Given the description of an element on the screen output the (x, y) to click on. 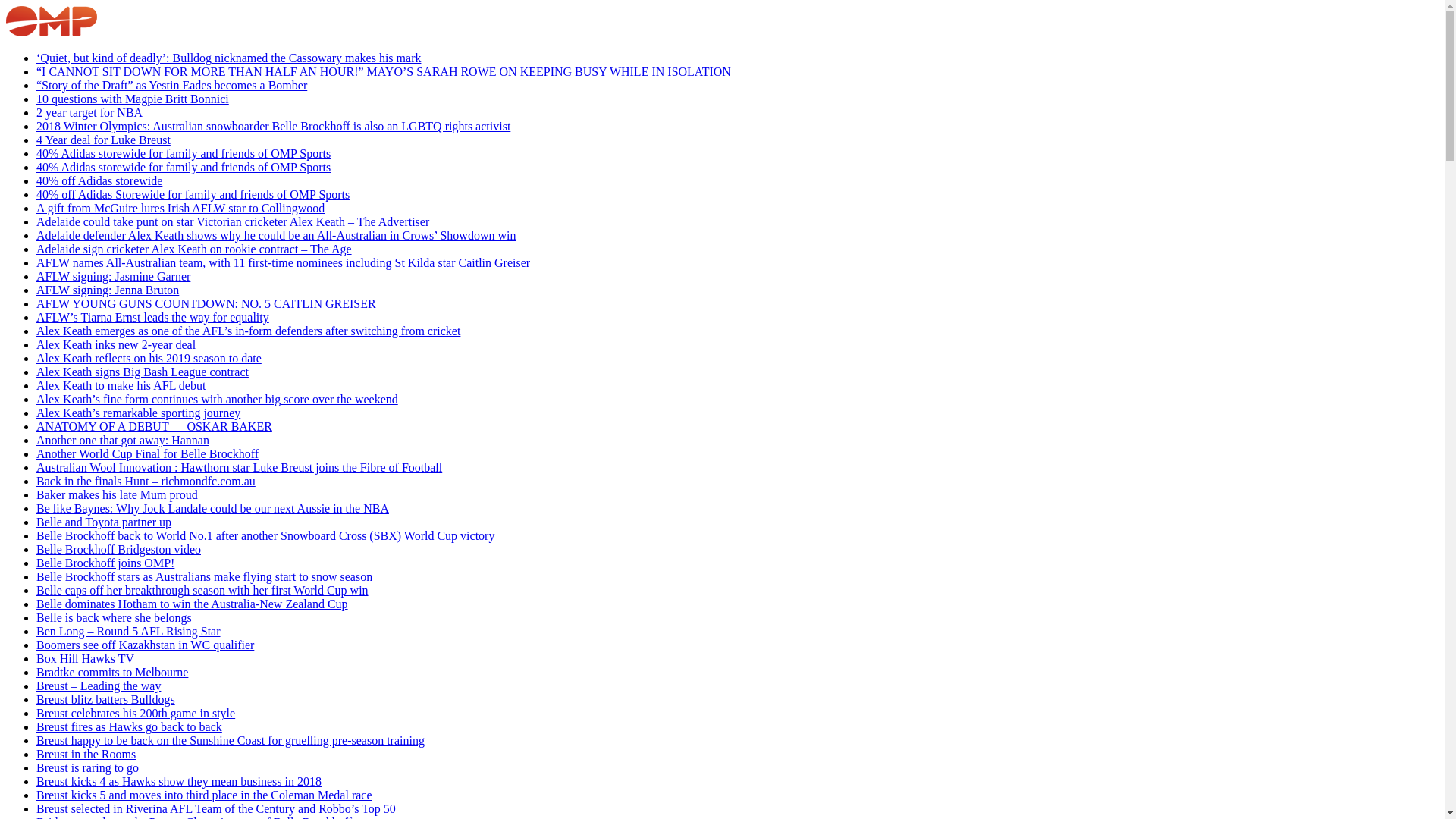
Alex Keath signs Big Bash League contract Element type: text (142, 371)
Another World Cup Final for Belle Brockhoff Element type: text (147, 453)
Baker makes his late Mum proud Element type: text (116, 494)
Belle Brockhoff joins OMP! Element type: text (105, 562)
AFLW signing: Jasmine Garner Element type: text (113, 275)
Alex Keath reflects on his 2019 season to date Element type: text (148, 357)
Belle and Toyota partner up Element type: text (103, 521)
Breust fires as Hawks go back to back Element type: text (129, 726)
A gift from McGuire lures Irish AFLW star to Collingwood Element type: text (180, 207)
Another one that got away: Hannan Element type: text (122, 439)
Bradtke commits to Melbourne Element type: text (112, 671)
40% Adidas storewide for family and friends of OMP Sports Element type: text (183, 166)
Box Hill Hawks TV Element type: text (85, 658)
10 questions with Magpie Britt Bonnici Element type: text (132, 98)
Belle dominates Hotham to win the Australia-New Zealand Cup Element type: text (192, 603)
40% off Adidas storewide Element type: text (99, 180)
2 year target for NBA Element type: text (89, 112)
4 Year deal for Luke Breust Element type: text (103, 139)
AFLW signing: Jenna Bruton Element type: text (107, 289)
AFLW YOUNG GUNS COUNTDOWN: NO. 5 CAITLIN GREISER Element type: text (206, 303)
Breust is raring to go Element type: text (87, 767)
Alex Keath inks new 2-year deal Element type: text (115, 344)
40% Adidas storewide for family and friends of OMP Sports Element type: text (183, 153)
Breust kicks 4 as Hawks show they mean business in 2018 Element type: text (178, 781)
Alex Keath to make his AFL debut Element type: text (120, 385)
Breust in the Rooms Element type: text (85, 753)
Boomers see off Kazakhstan in WC qualifier Element type: text (145, 644)
Belle Brockhoff Bridgeston video Element type: text (118, 548)
Belle is back where she belongs Element type: text (113, 617)
Breust celebrates his 200th game in style Element type: text (135, 712)
Breust blitz batters Bulldogs Element type: text (105, 699)
